Given the description of an element on the screen output the (x, y) to click on. 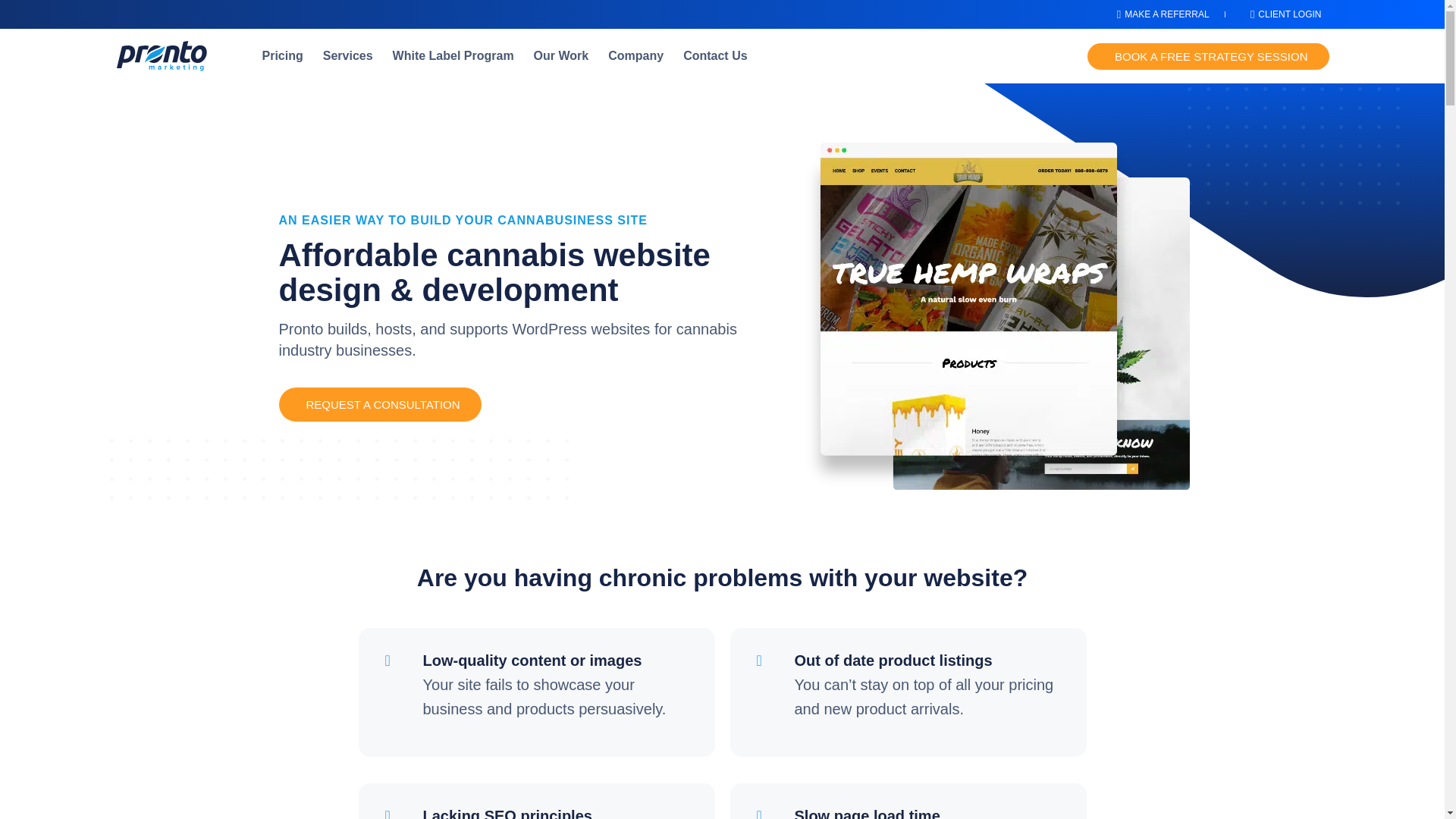
MAKE A REFERRAL (1157, 14)
White Label Program (453, 55)
CLIENT LOGIN (1281, 14)
Pricing (282, 55)
Services (347, 55)
